Given the description of an element on the screen output the (x, y) to click on. 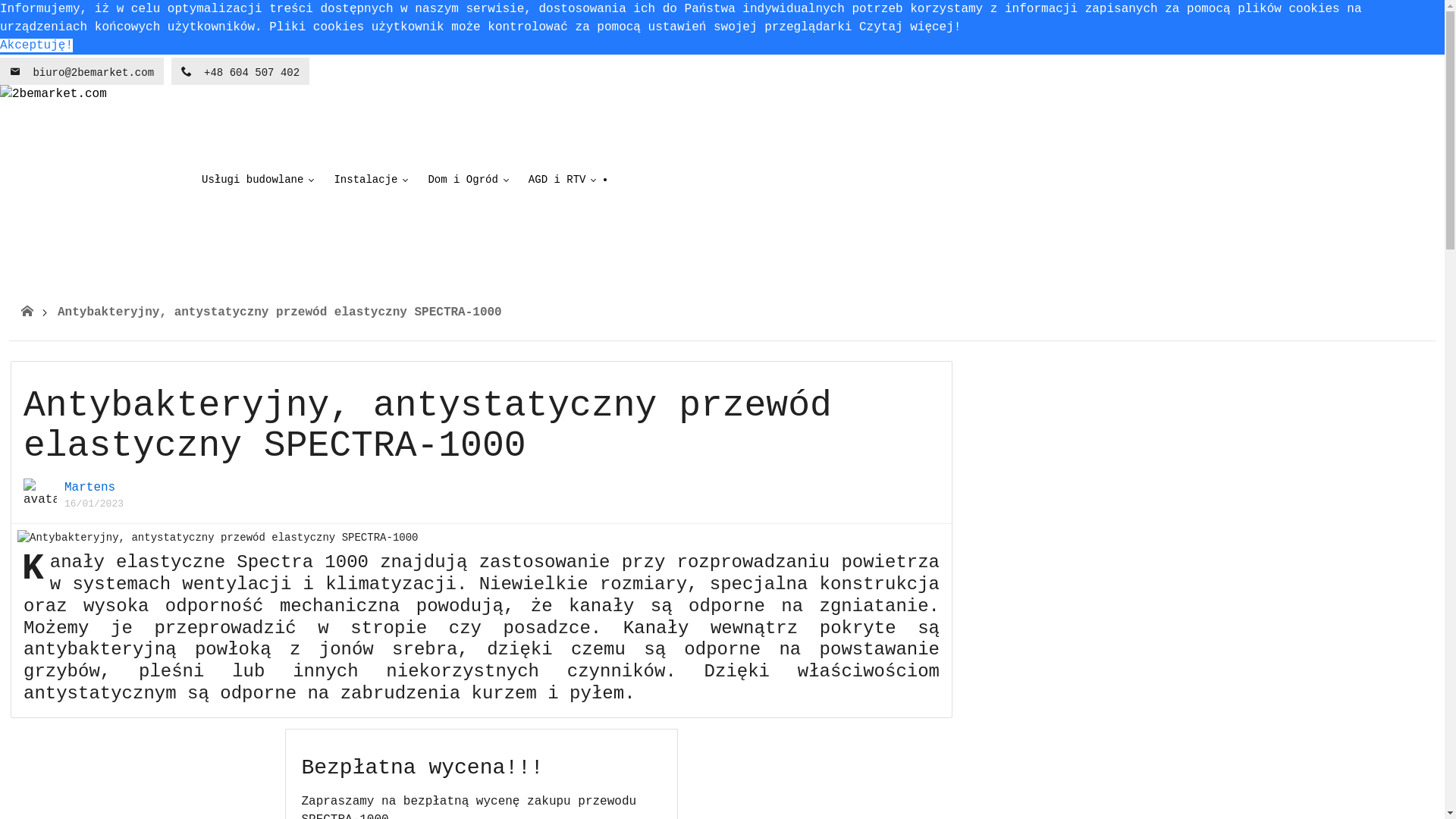
biuro@2bemarket.com Element type: text (81, 70)
Instalacje Element type: text (368, 179)
Martens Element type: text (89, 487)
2bemarket.com Element type: hover (94, 179)
+48 604 507 402 Element type: text (240, 70)
AGD i RTV Element type: text (560, 179)
